Given the description of an element on the screen output the (x, y) to click on. 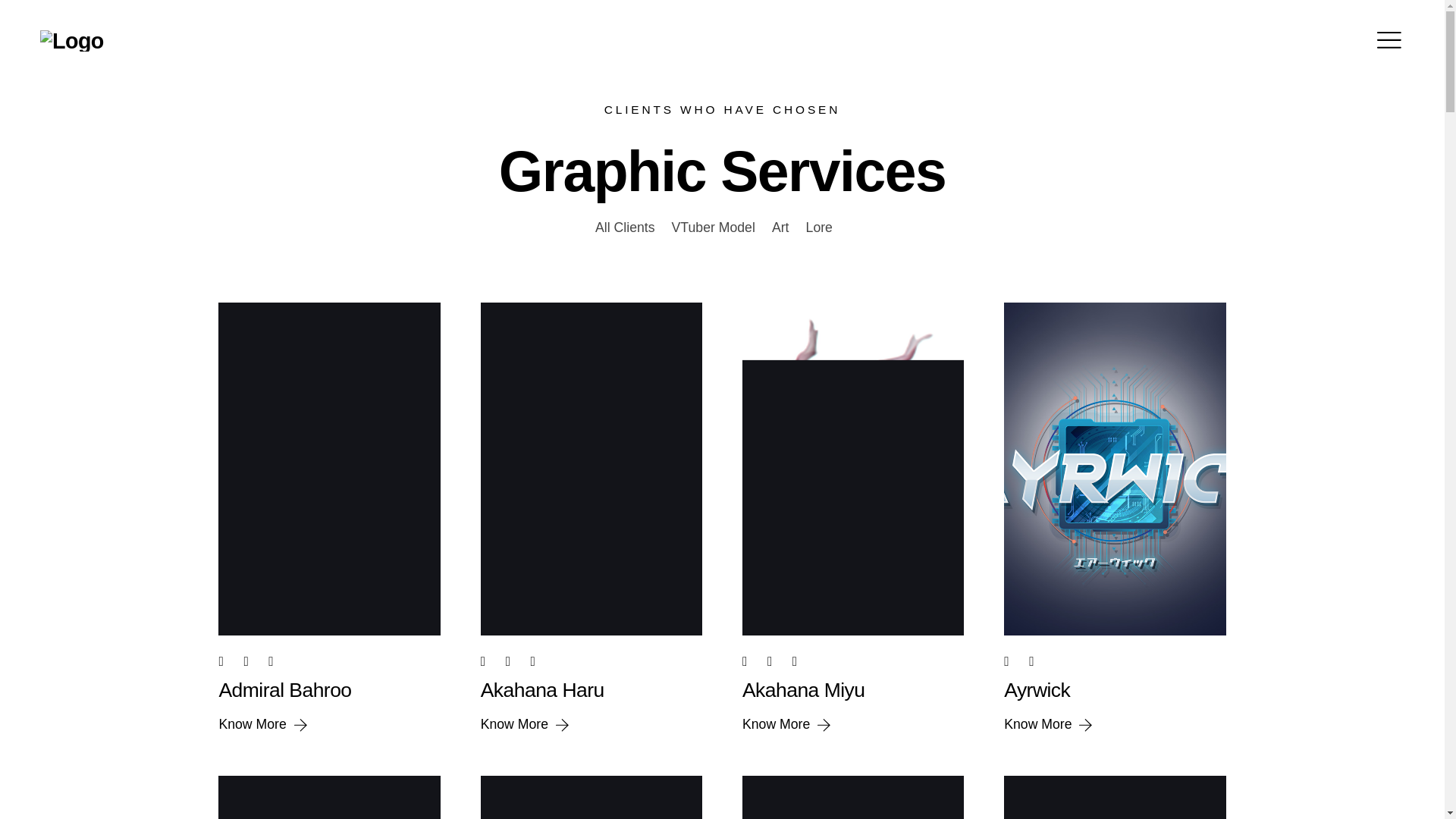
VTuber Model (713, 227)
All Clients (625, 227)
Graphic Services (721, 171)
